Given the description of an element on the screen output the (x, y) to click on. 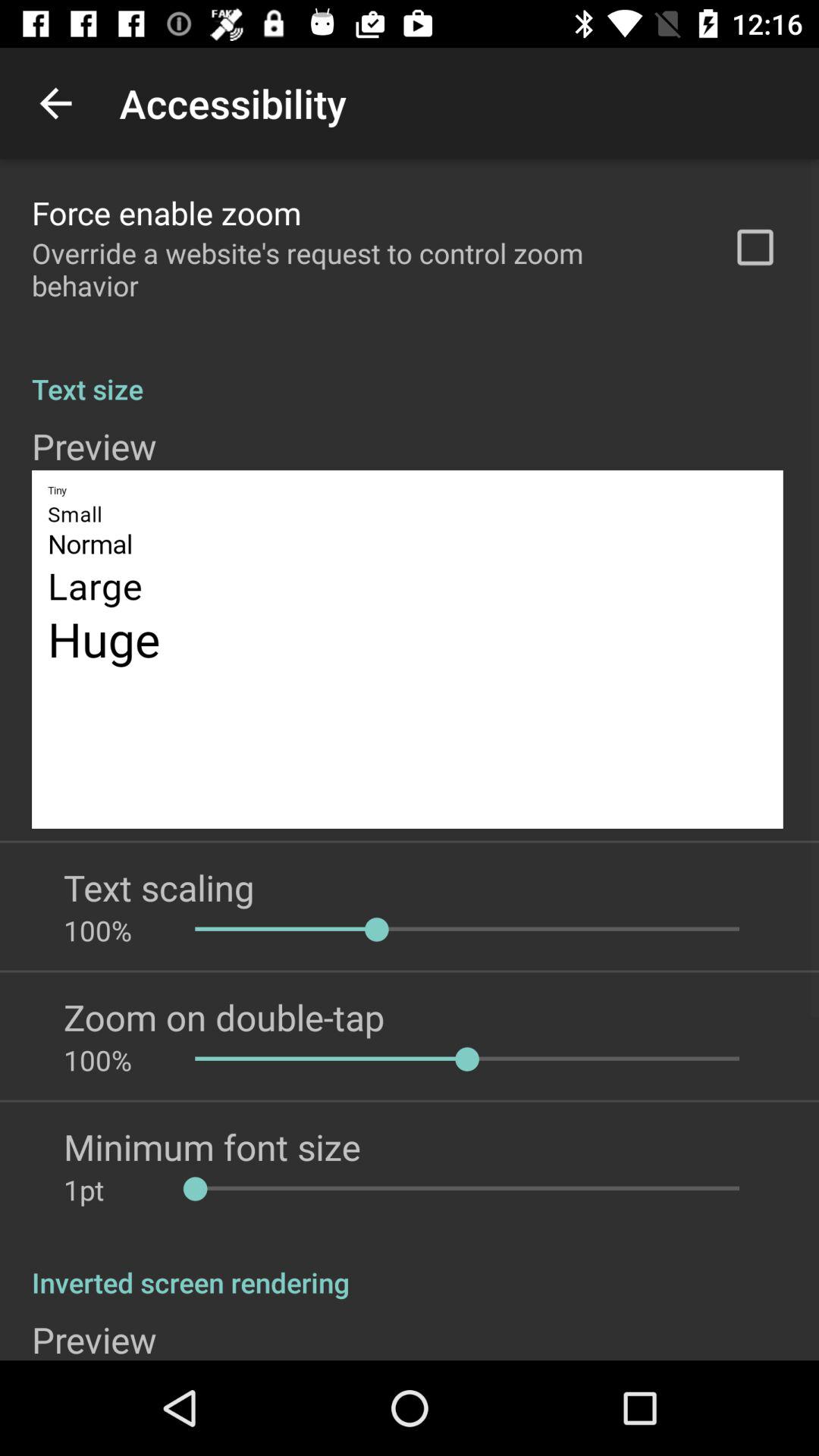
launch item to the right of the override a website icon (755, 247)
